Given the description of an element on the screen output the (x, y) to click on. 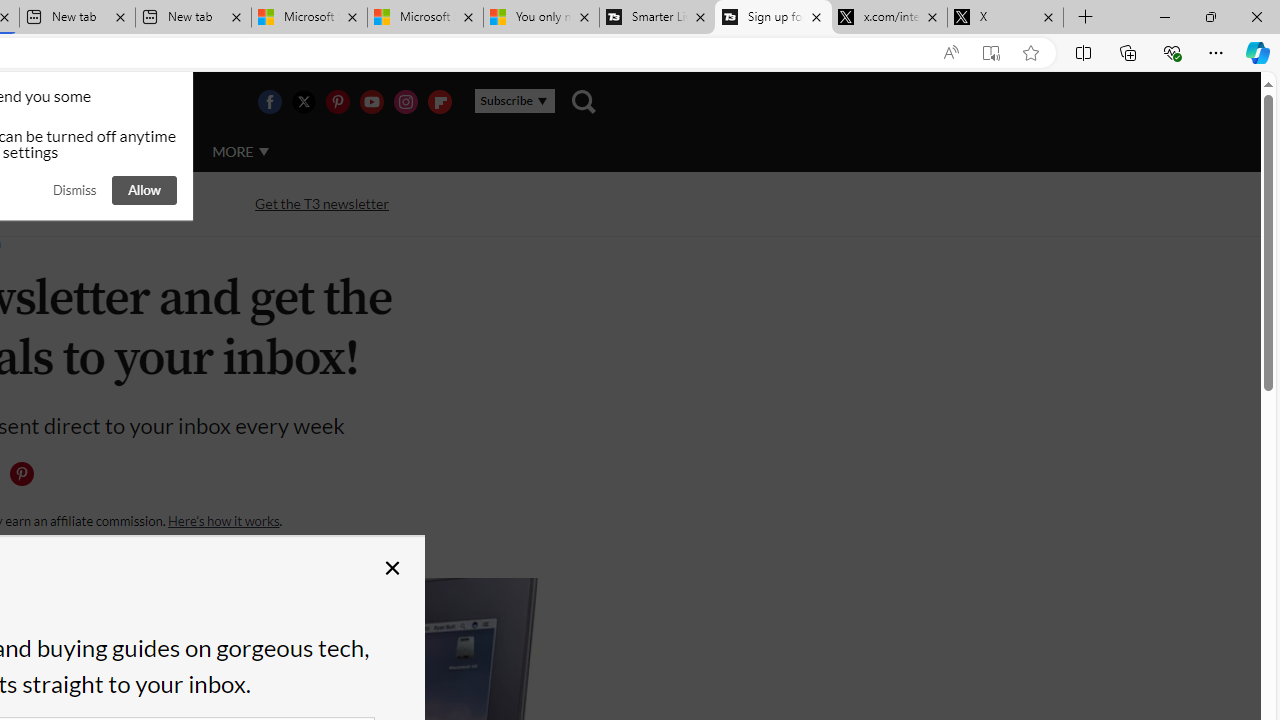
Streaming TV and movies (105, 202)
